Given the description of an element on the screen output the (x, y) to click on. 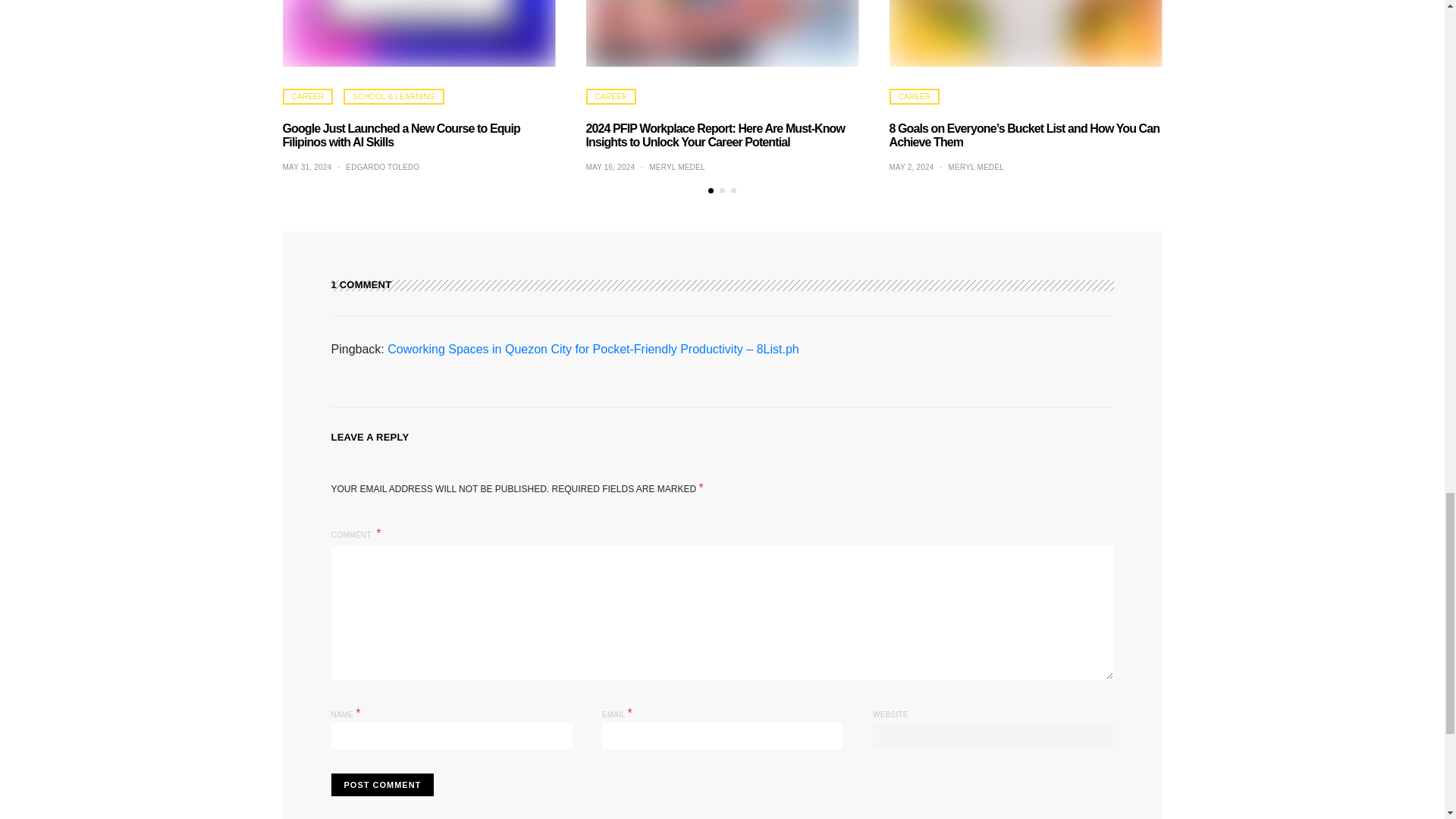
View all posts by Meryl Medel (976, 166)
View all posts by Meryl Medel (676, 166)
View all posts by Edgardo Toledo (382, 166)
Post Comment (381, 784)
